Given the description of an element on the screen output the (x, y) to click on. 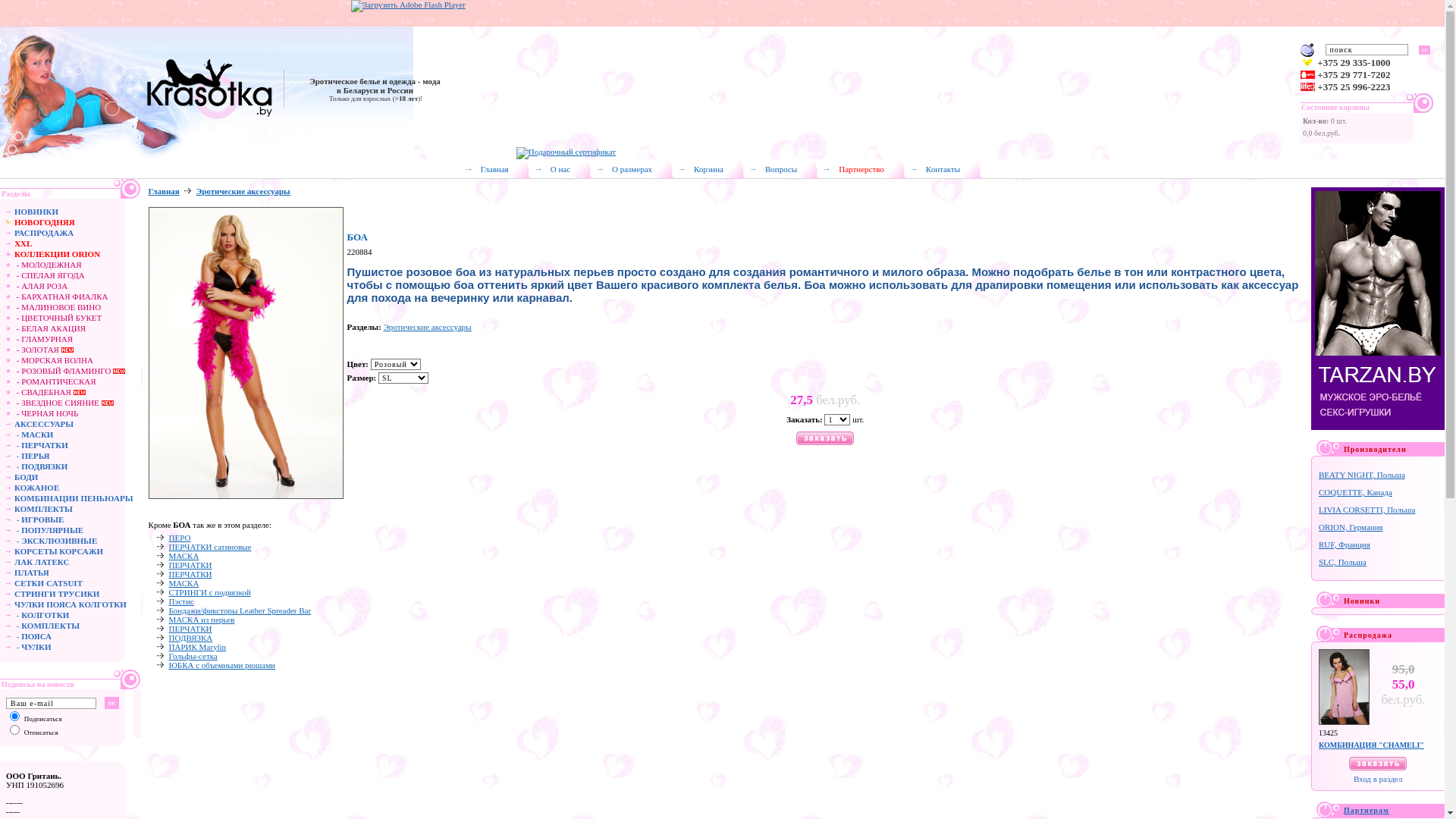
XXL Element type: text (22, 242)
OK Element type: hover (111, 702)
